Given the description of an element on the screen output the (x, y) to click on. 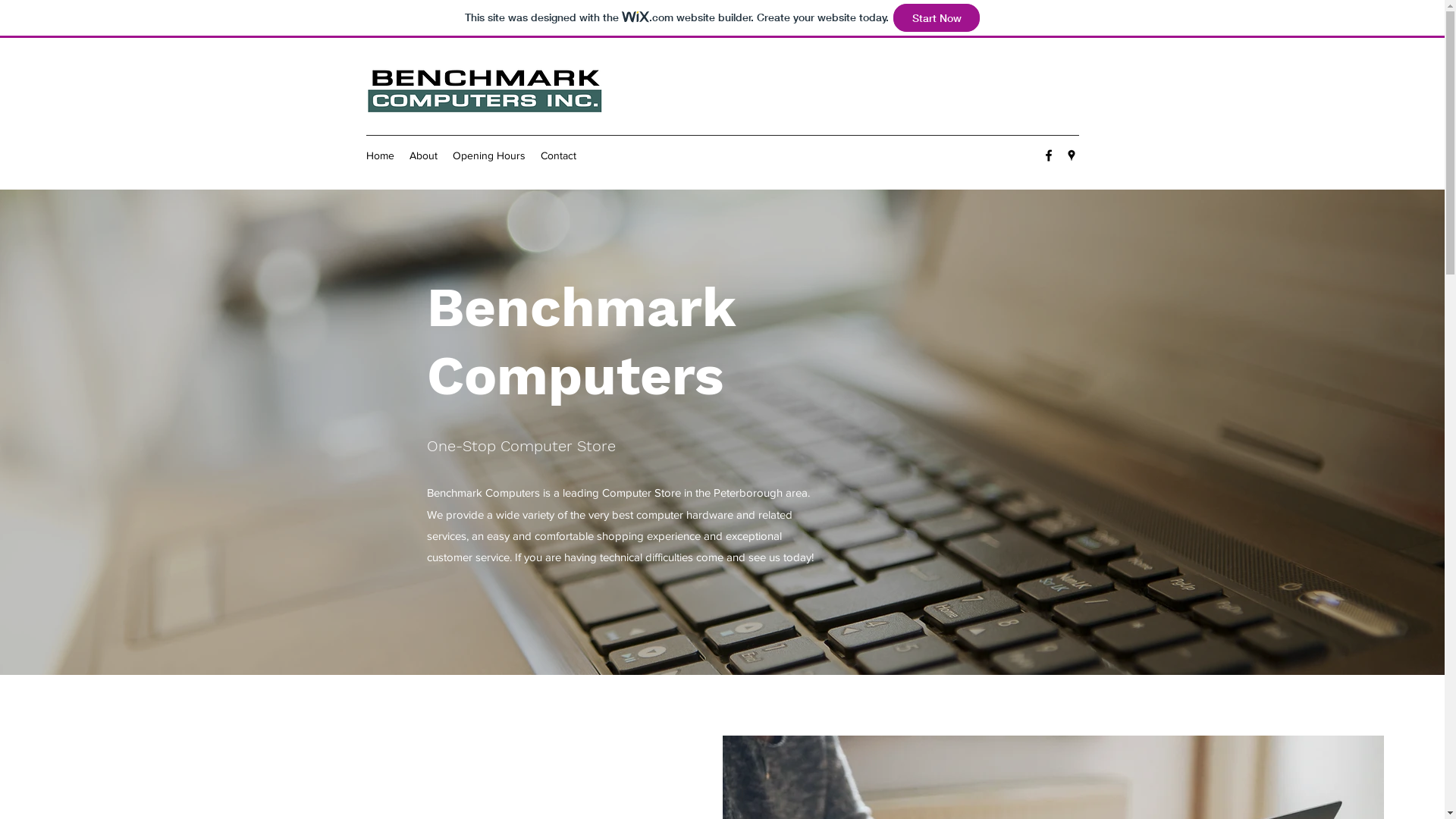
Home Element type: text (379, 155)
Contact Element type: text (557, 155)
About Element type: text (423, 155)
Opening Hours Element type: text (488, 155)
